Given the description of an element on the screen output the (x, y) to click on. 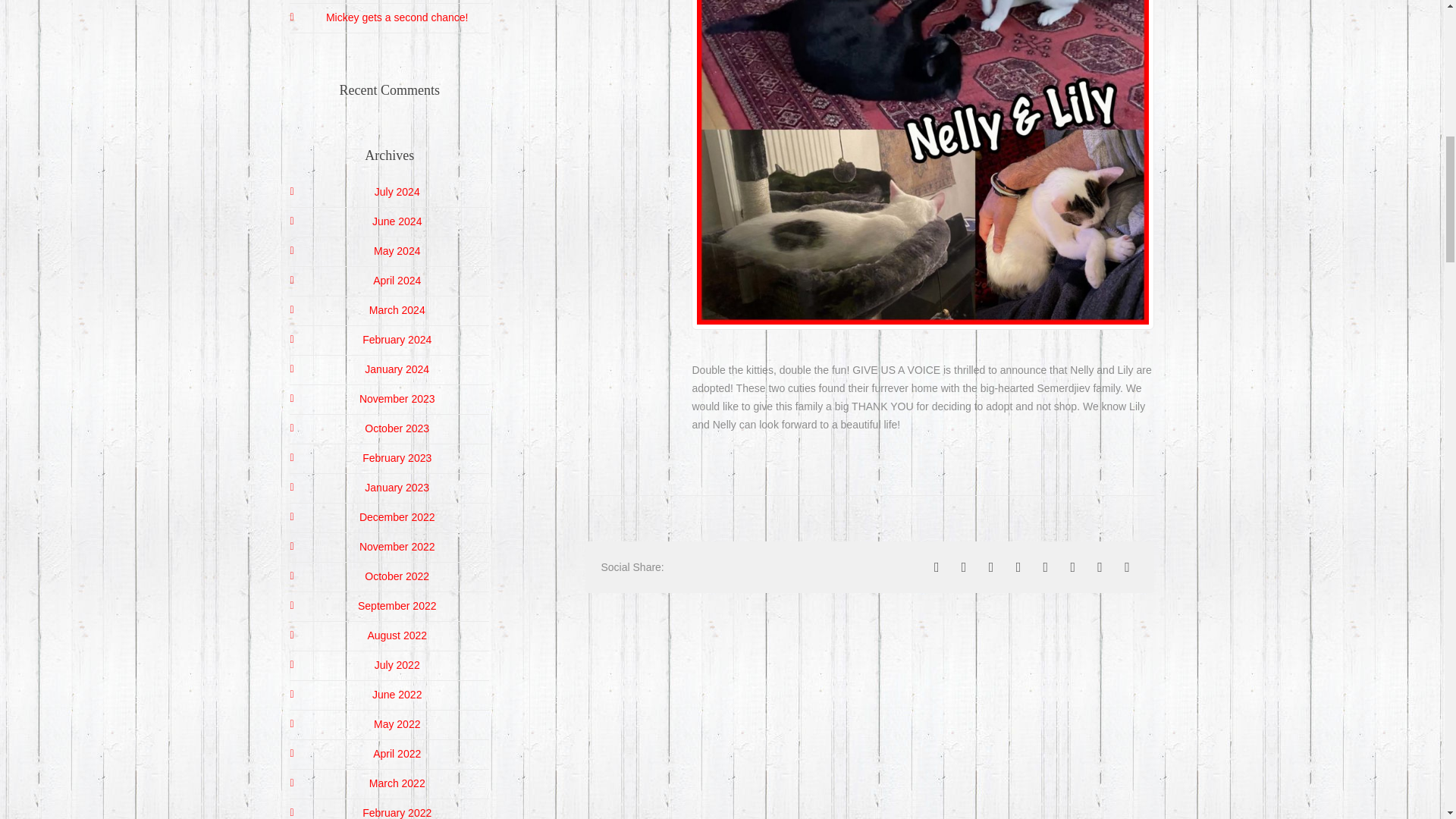
Mickey gets a second chance! (397, 17)
October 2023 (397, 428)
May 2024 (397, 250)
February 2023 (396, 458)
February 2024 (396, 339)
November 2023 (397, 398)
January 2023 (397, 487)
July 2024 (397, 191)
March 2024 (397, 309)
April 2024 (396, 280)
June 2024 (397, 221)
January 2024 (397, 369)
